Given the description of an element on the screen output the (x, y) to click on. 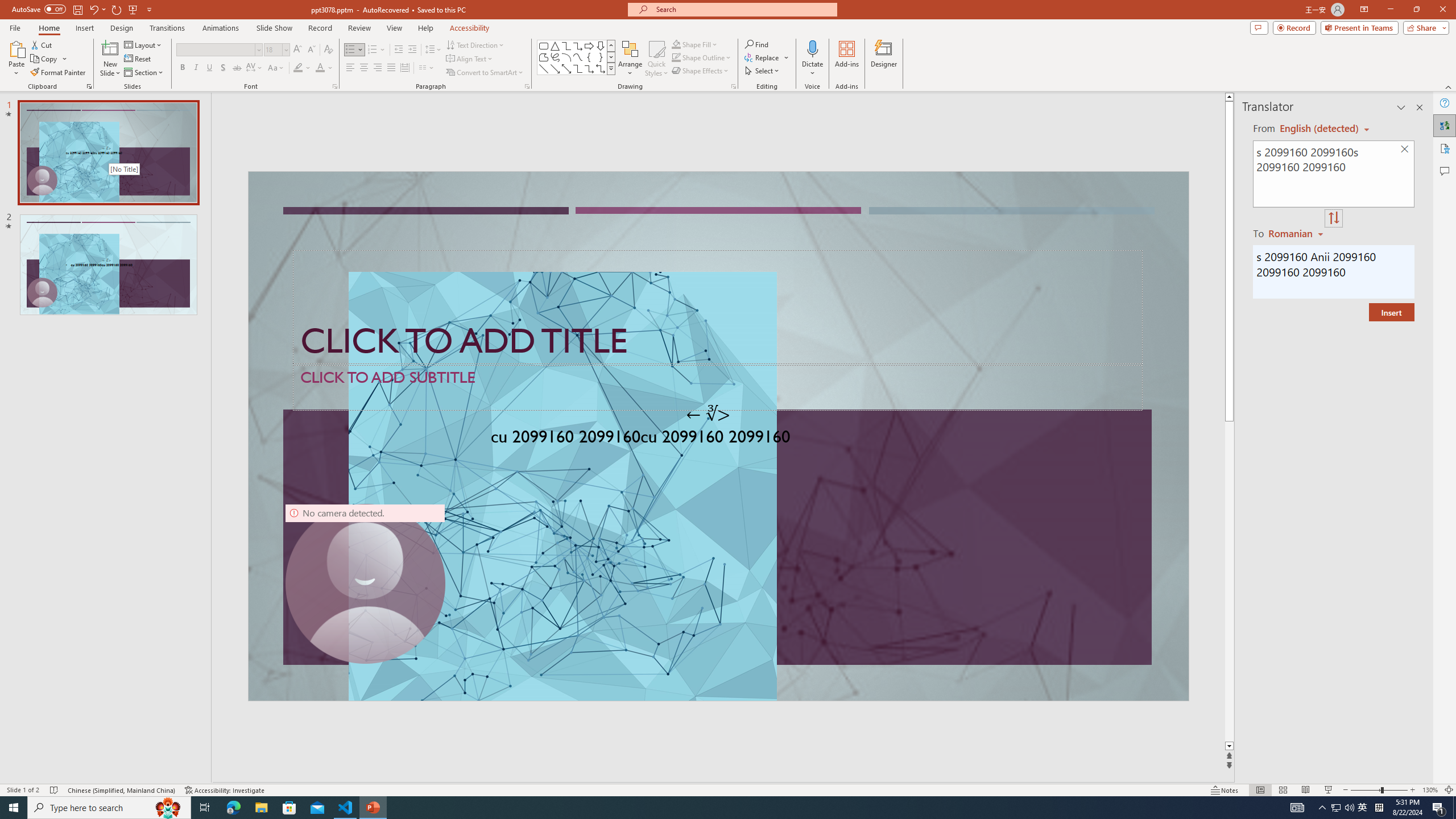
Connector: Elbow Double-Arrow (600, 68)
